Given the description of an element on the screen output the (x, y) to click on. 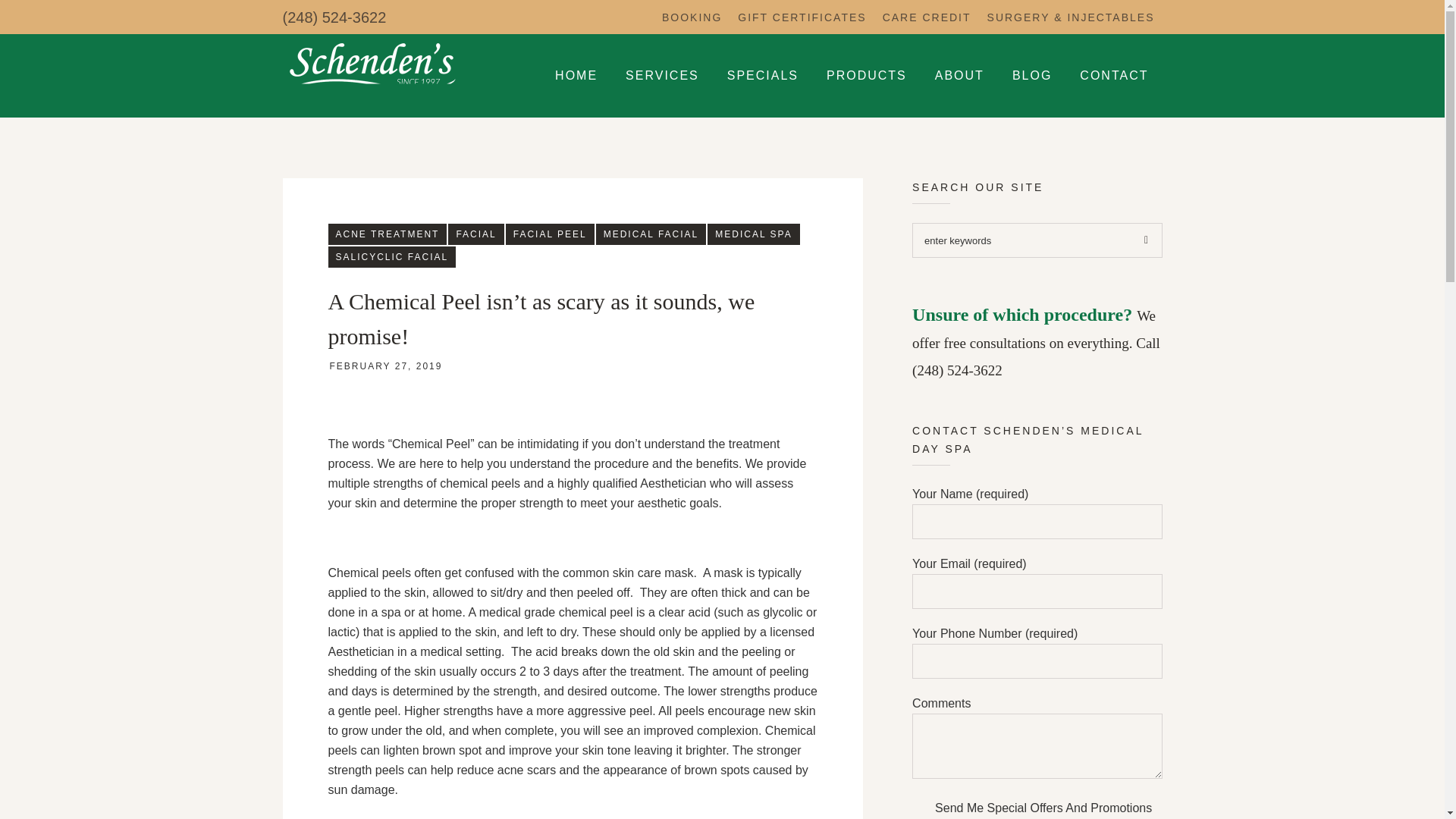
MEDICAL FACIAL (650, 233)
SERVICES (662, 75)
FACIAL PEEL (549, 233)
GIFT CERTIFICATES (801, 17)
HOME (576, 75)
FACIAL (475, 233)
SPECIALS (762, 75)
PRODUCTS (866, 75)
MEDICAL SPA (753, 233)
BLOG (1031, 75)
